Given the description of an element on the screen output the (x, y) to click on. 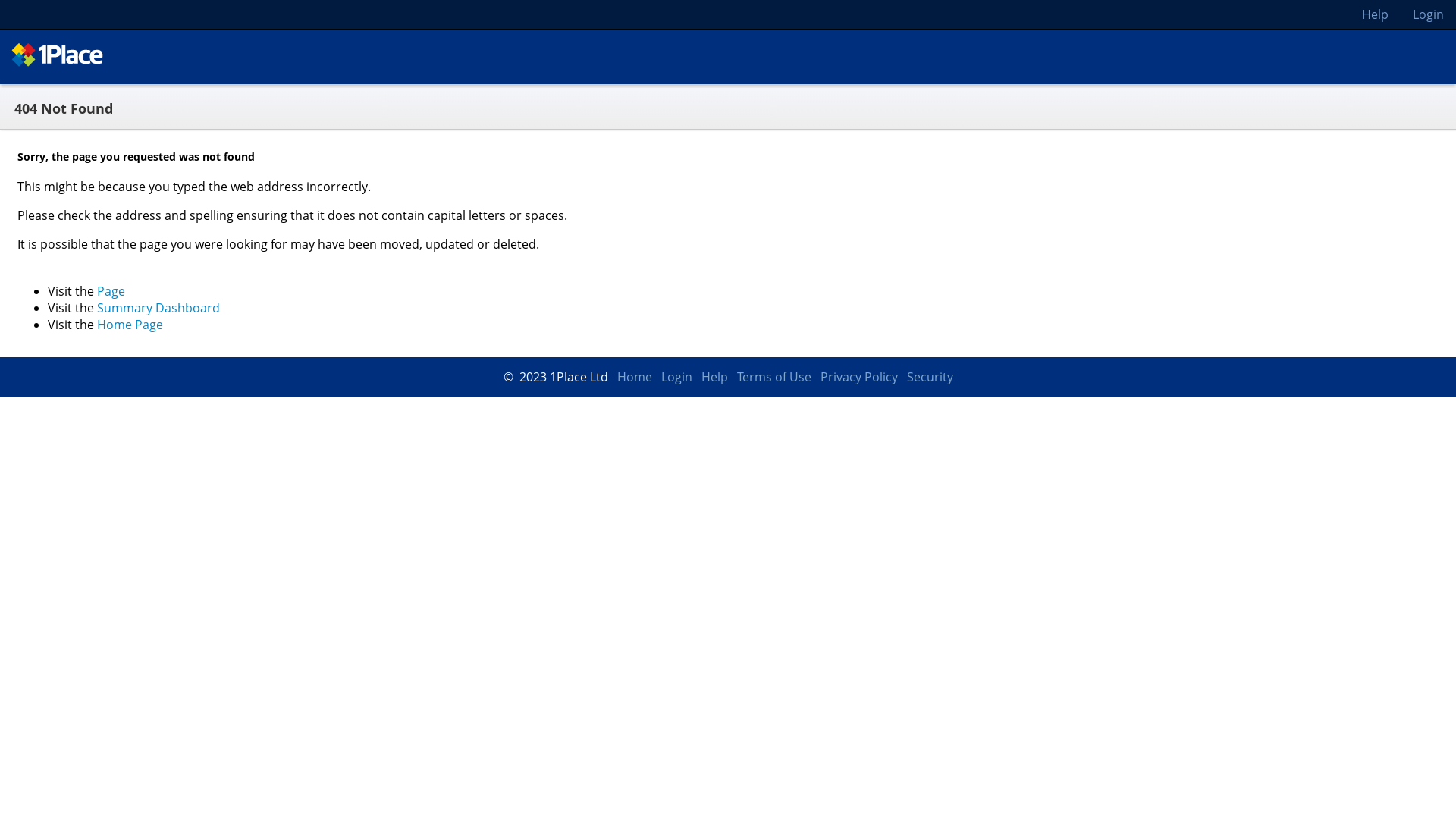
Help Element type: text (713, 376)
1Place Element type: text (60, 60)
Terms of Use Element type: text (774, 376)
Privacy Policy Element type: text (858, 376)
Home Page Element type: text (130, 324)
Home Element type: text (634, 376)
Login Element type: text (676, 376)
Summary Dashboard Element type: text (158, 307)
Page Element type: text (111, 290)
Security Element type: text (929, 376)
Help Element type: text (1374, 14)
